Given the description of an element on the screen output the (x, y) to click on. 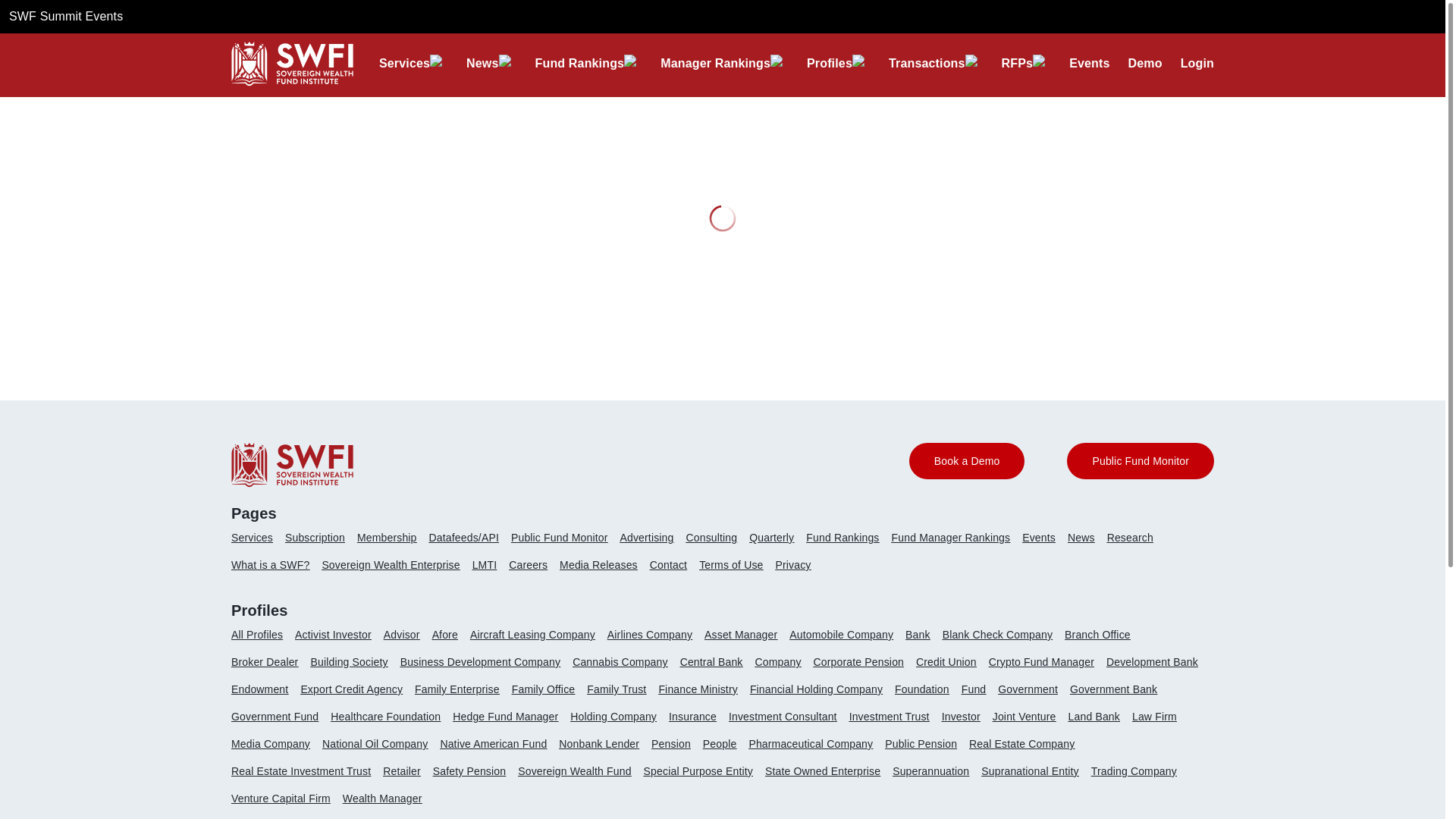
Services (403, 63)
SWF Summit Events (65, 15)
Manager Rankings (715, 63)
News (481, 63)
Fund Rankings (579, 63)
